Given the description of an element on the screen output the (x, y) to click on. 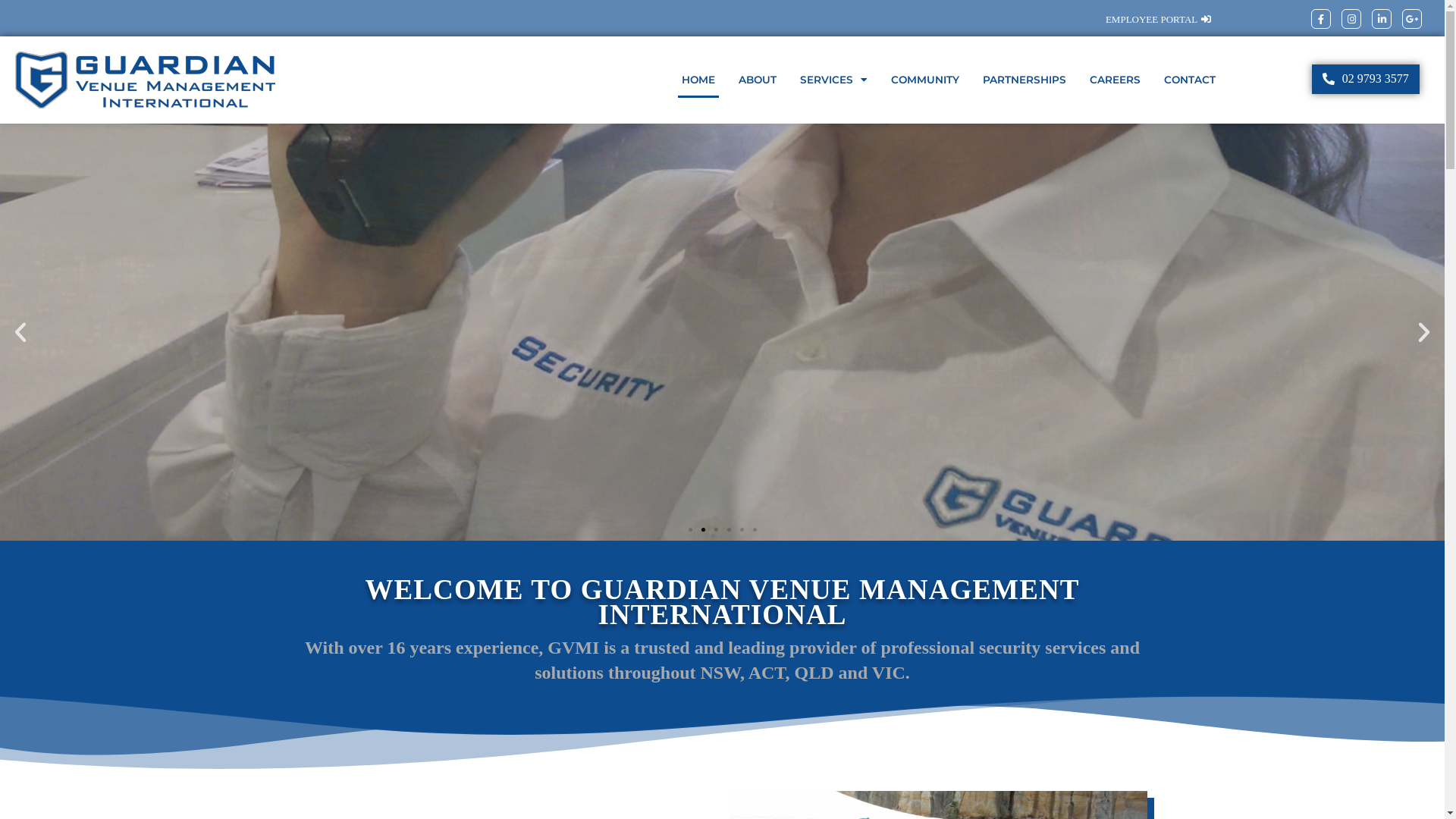
PARTNERSHIPS Element type: text (1024, 79)
EMPLOYEE PORTAL Element type: text (1157, 19)
Read More Element type: text (87, 487)
SERVICES Element type: text (833, 79)
HOME Element type: text (697, 79)
02 9793 3577 Element type: text (1365, 78)
CAREERS Element type: text (1114, 79)
CONTACT Element type: text (1189, 79)
ABOUT Element type: text (757, 79)
COMMUNITY Element type: text (925, 79)
